Given the description of an element on the screen output the (x, y) to click on. 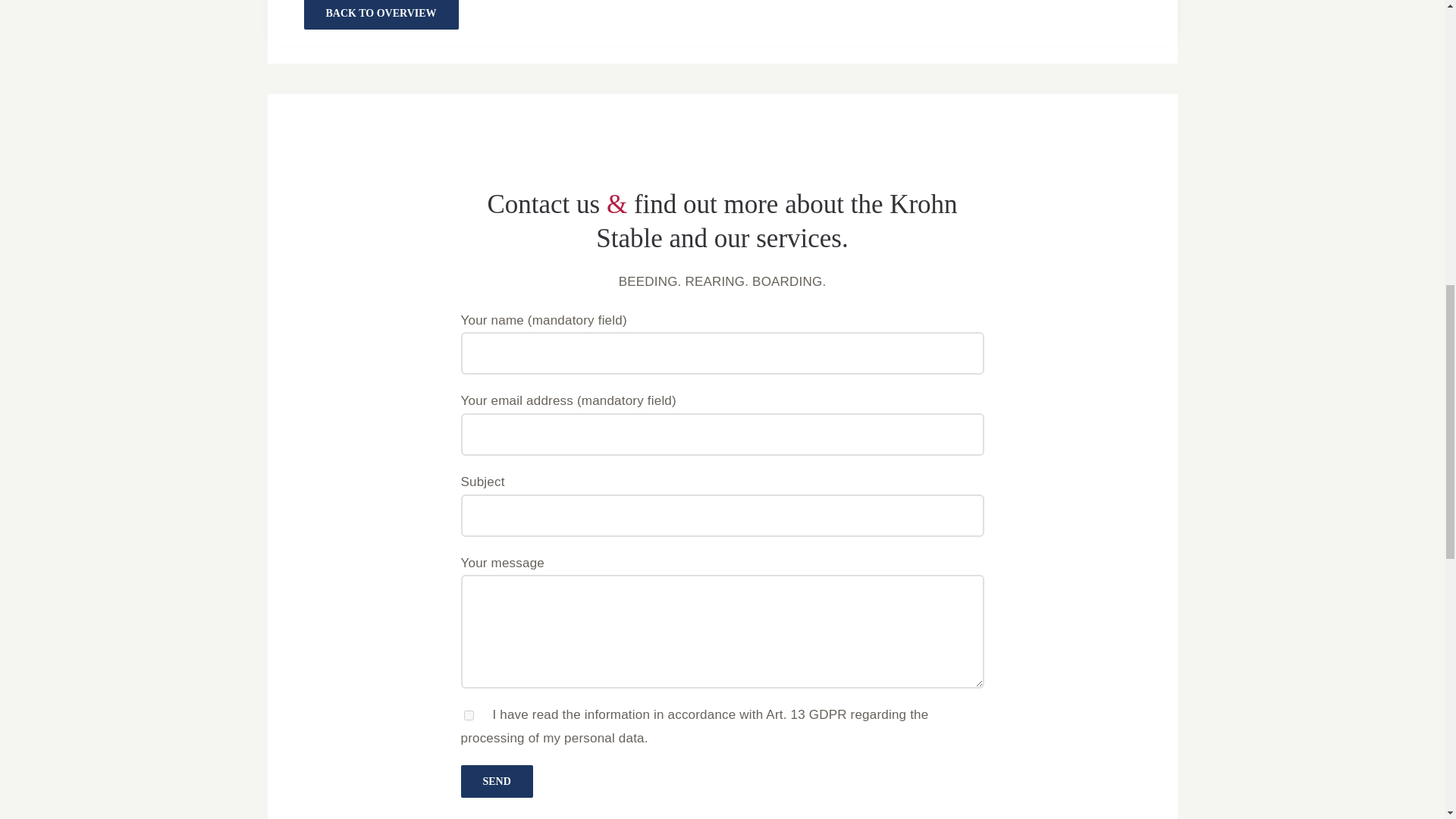
BACK TO OVERVIEW (380, 14)
1 (469, 715)
Send (496, 780)
Send (496, 780)
